Given the description of an element on the screen output the (x, y) to click on. 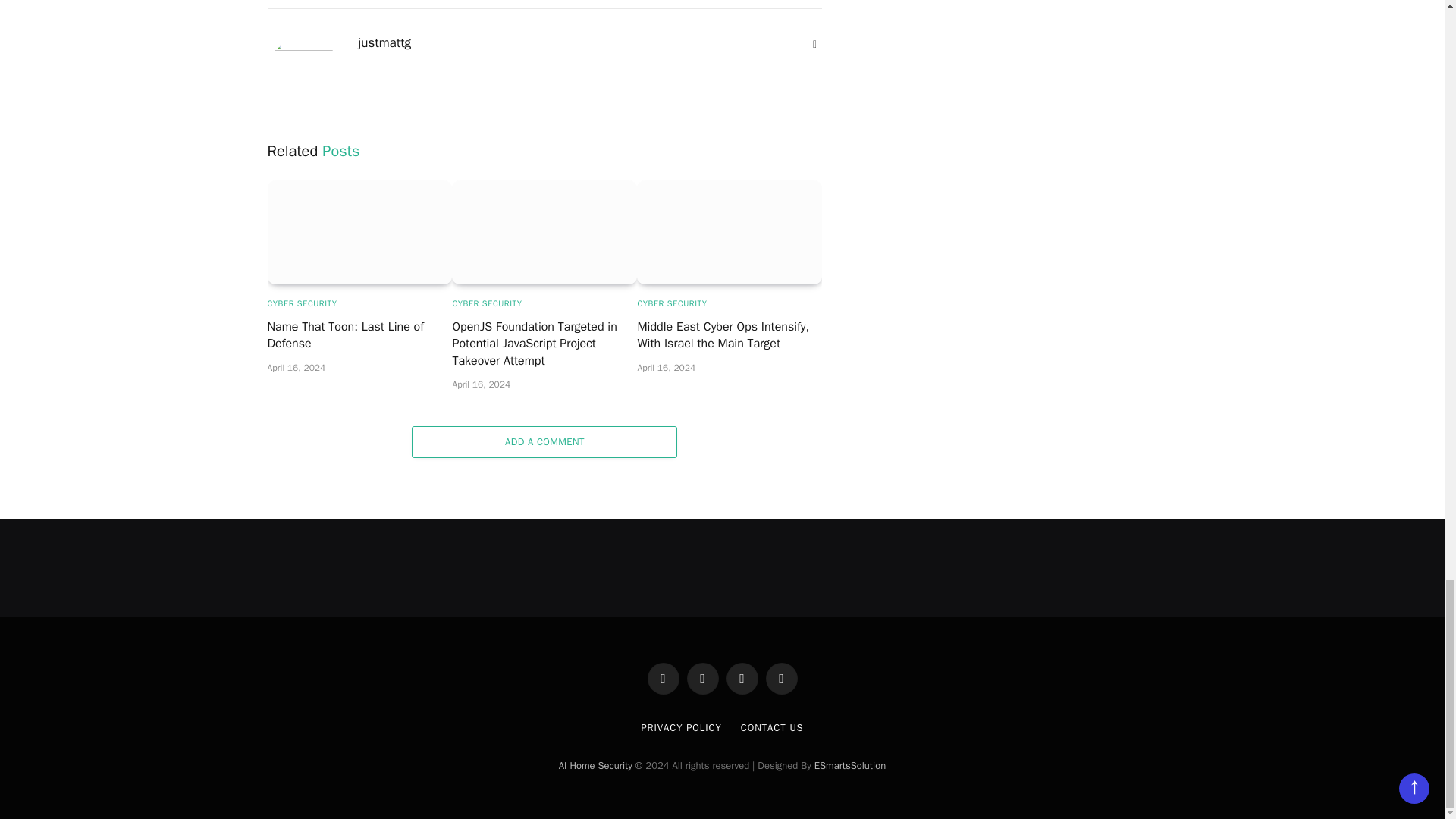
Posts by justmattg (384, 43)
